Given the description of an element on the screen output the (x, y) to click on. 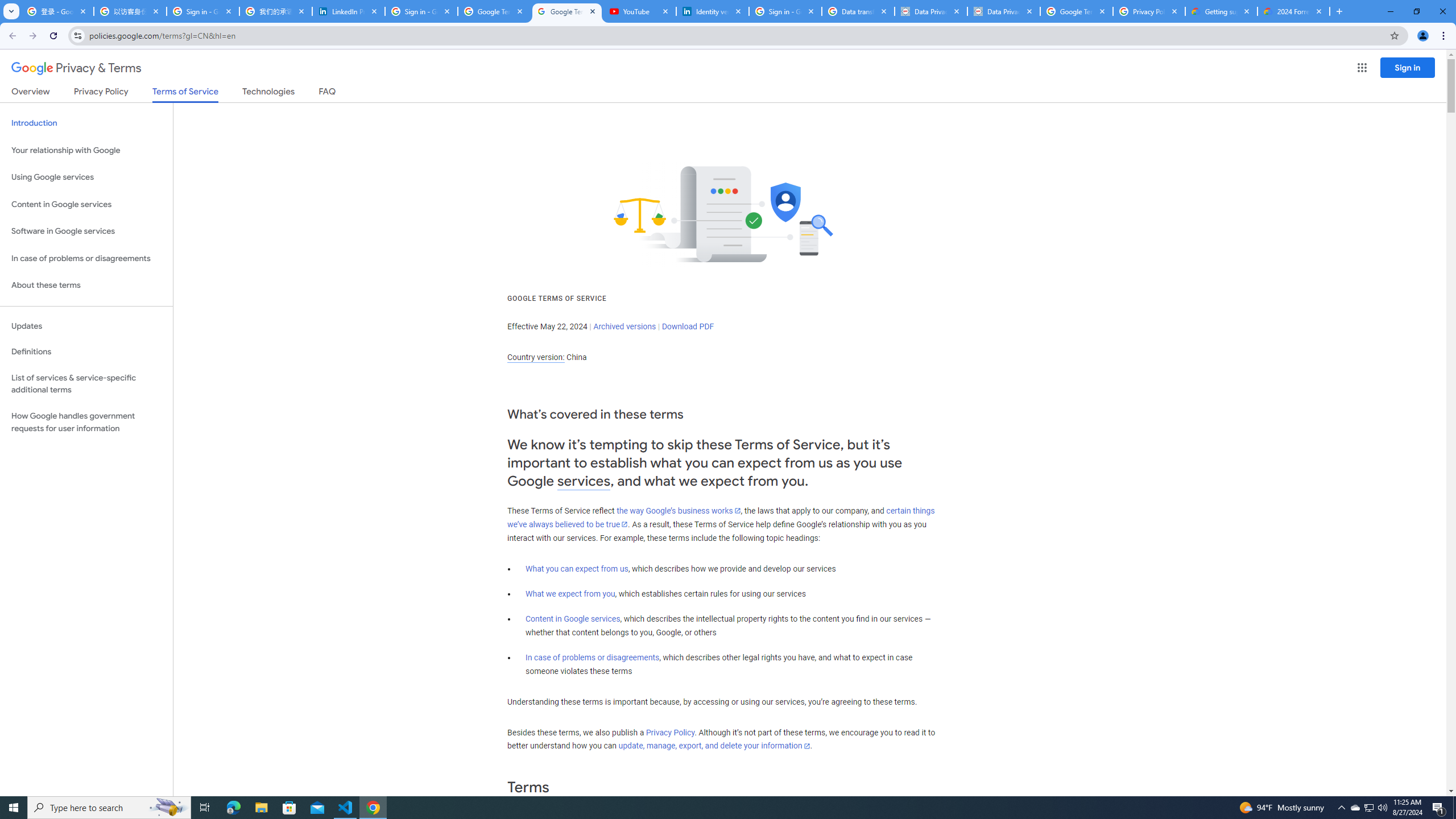
Privacy Policy (669, 732)
In case of problems or disagreements (592, 657)
Privacy & Terms (76, 68)
Archived versions (624, 326)
Chrome (1445, 35)
Reload (52, 35)
Restore (1416, 11)
System (6, 6)
Address and search bar (735, 35)
